Given the description of an element on the screen output the (x, y) to click on. 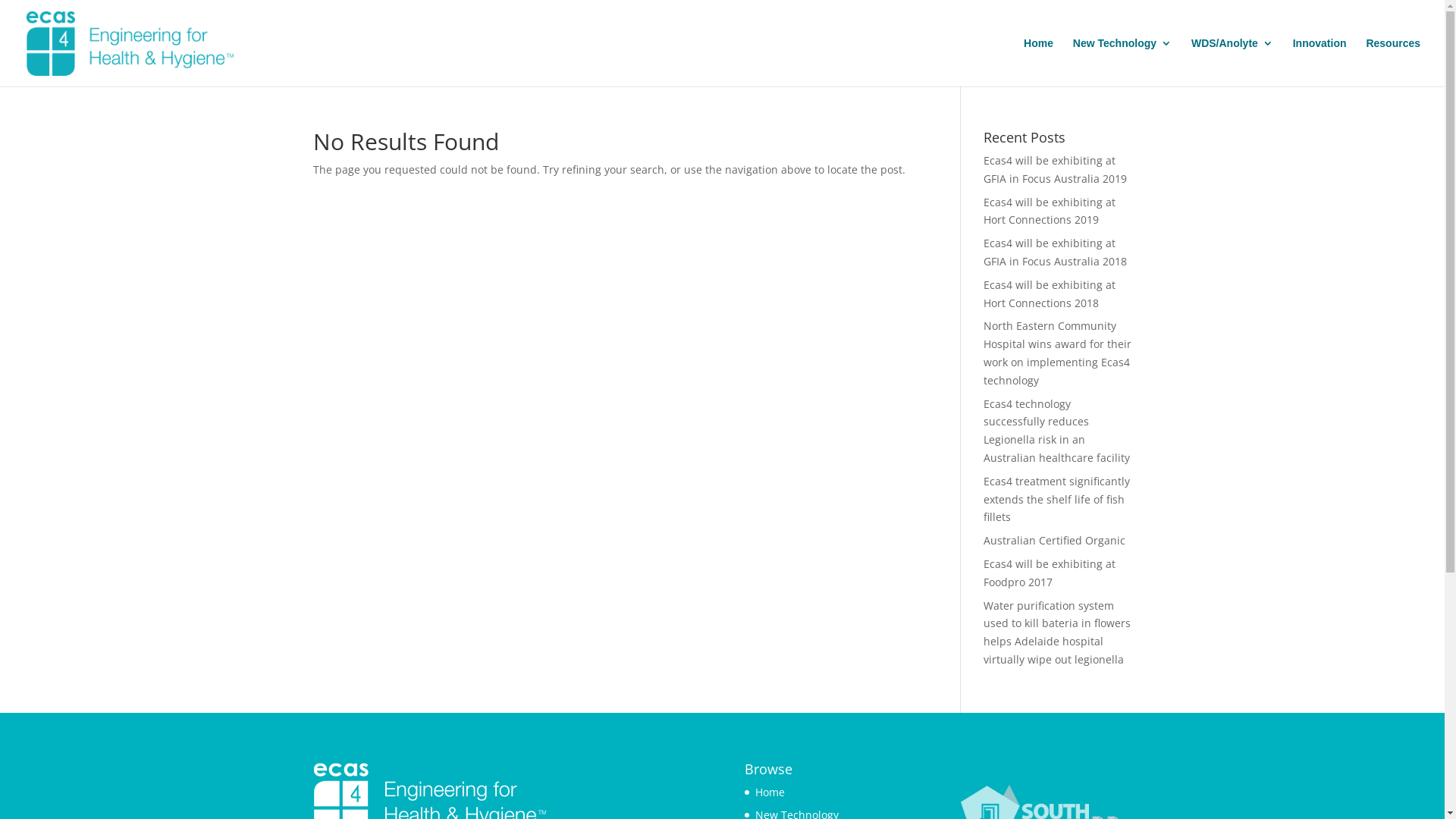
Home Element type: text (769, 791)
Ecas4 will be exhibiting at GFIA in Focus Australia 2019 Element type: text (1054, 169)
Ecas4 will be exhibiting at Hort Connections 2018 Element type: text (1049, 293)
Australian Certified Organic Element type: text (1054, 540)
Resources Element type: text (1392, 61)
New Technology Element type: text (1122, 61)
Ecas4 will be exhibiting at GFIA in Focus Australia 2018 Element type: text (1054, 251)
WDS/Anolyte Element type: text (1232, 61)
Home Element type: text (1038, 61)
Ecas4 will be exhibiting at Hort Connections 2019 Element type: text (1049, 210)
Ecas4 will be exhibiting at Foodpro 2017 Element type: text (1049, 572)
Innovation Element type: text (1319, 61)
